Given the description of an element on the screen output the (x, y) to click on. 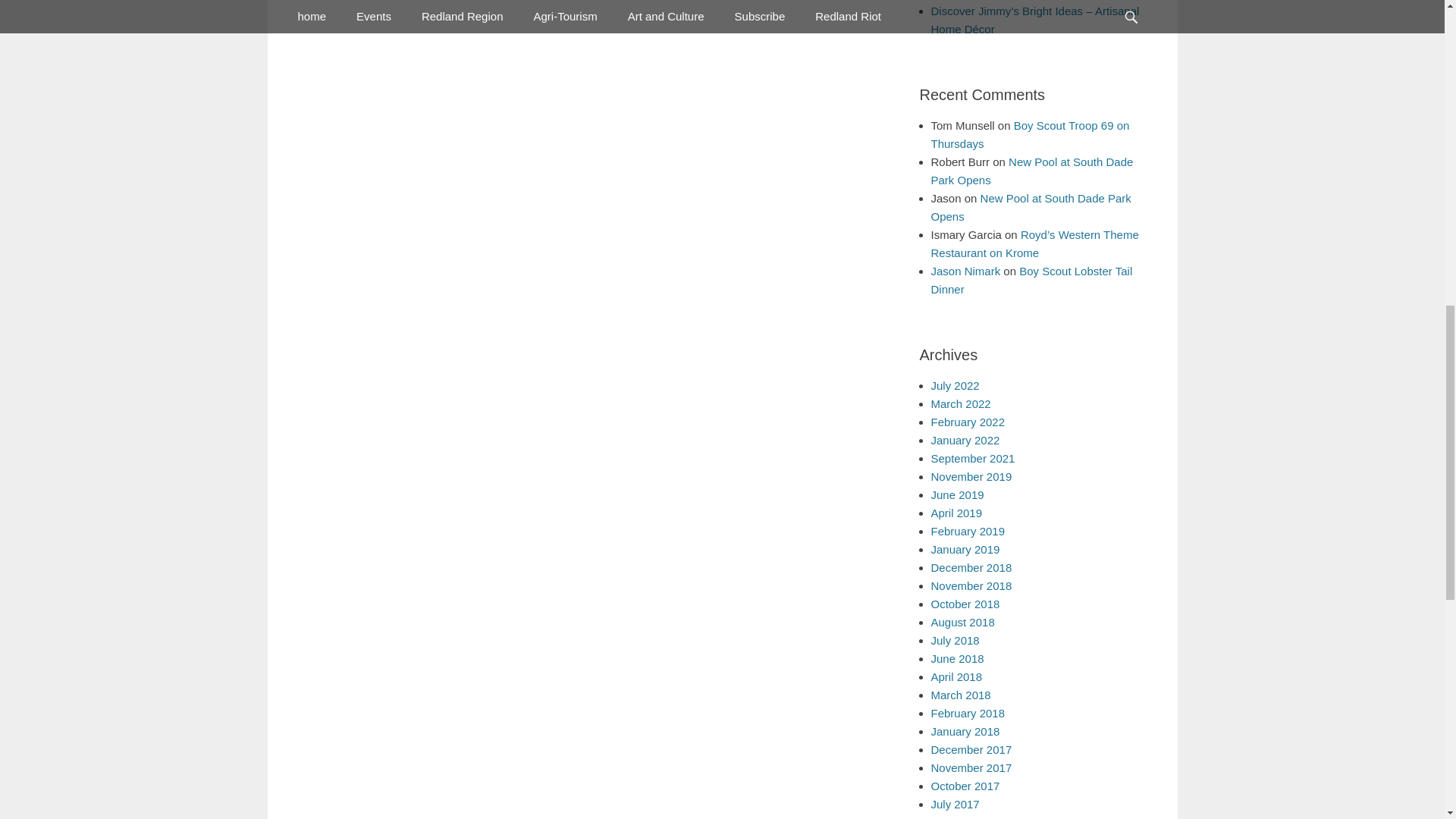
February 2019 (968, 530)
June 2019 (957, 494)
January 2022 (965, 440)
November 2019 (971, 476)
Jason Nimark (966, 270)
New Pool at South Dade Park Opens (1031, 206)
Boy Scout Lobster Tail Dinner (1031, 279)
Boy Scout Troop 69 on Thursdays (1030, 133)
February 2022 (968, 421)
July 2022 (955, 385)
